Given the description of an element on the screen output the (x, y) to click on. 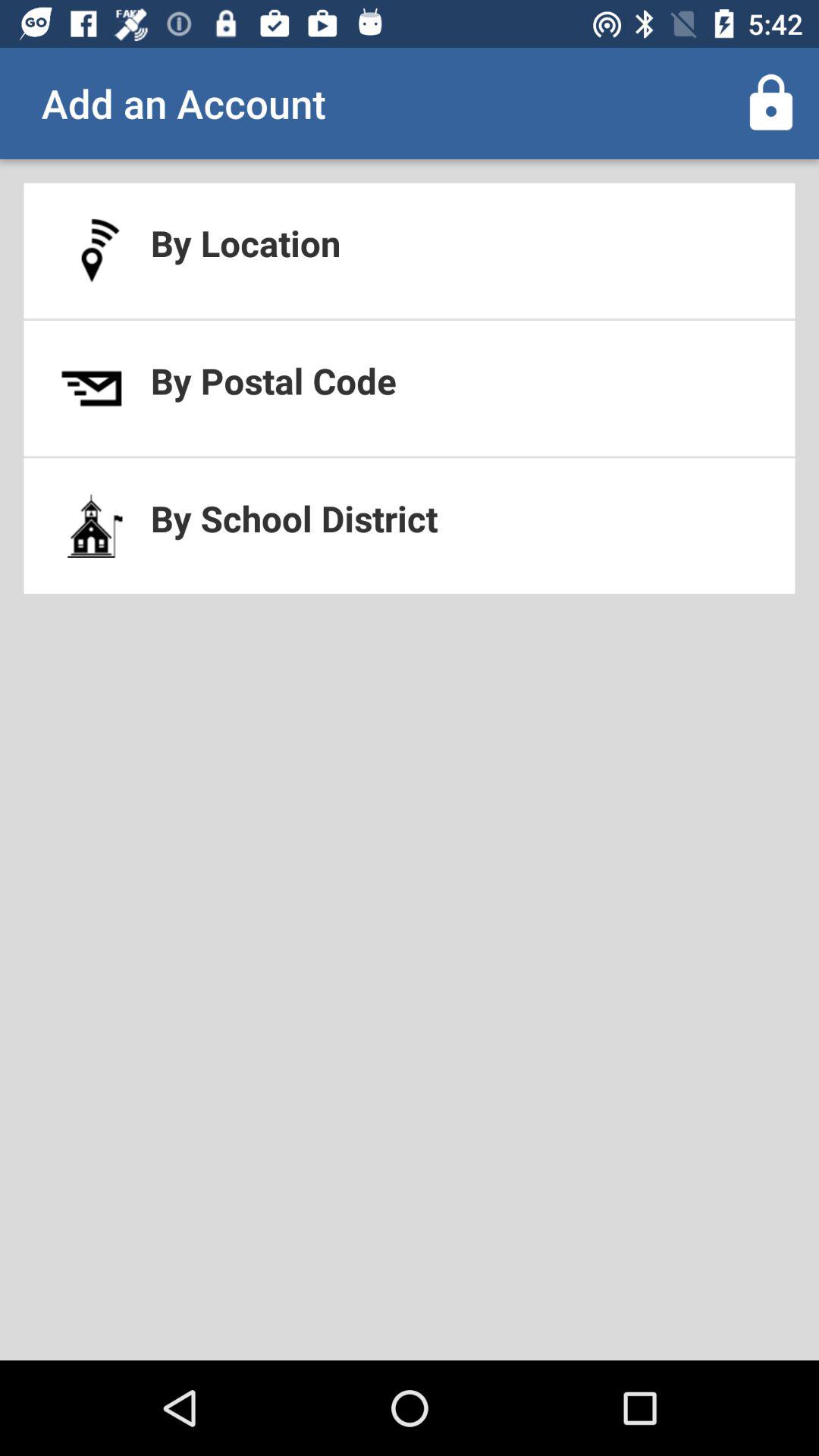
turn off icon at the top right corner (771, 103)
